Given the description of an element on the screen output the (x, y) to click on. 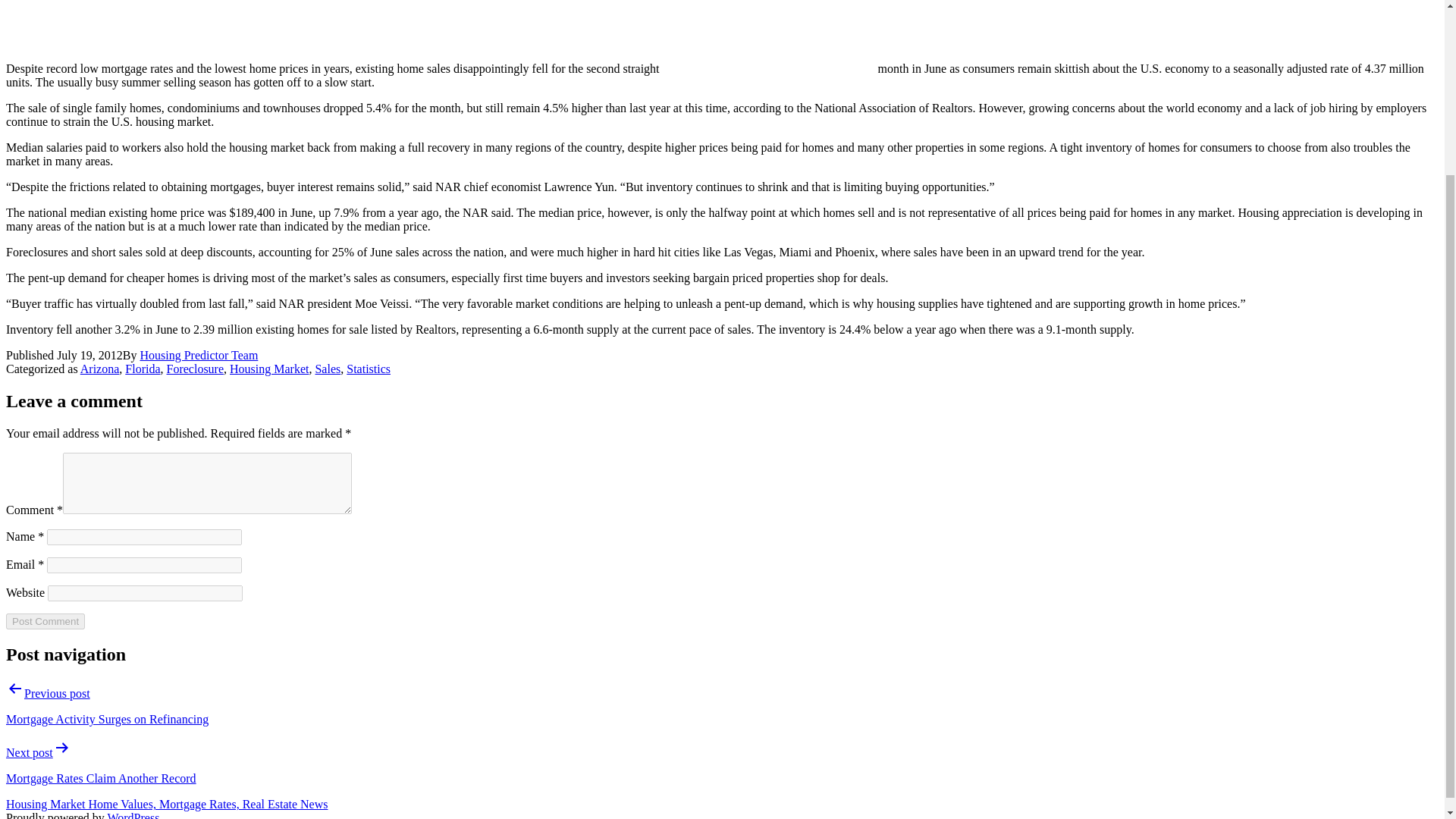
Post Comment (44, 621)
Sales (327, 368)
Housing Market (269, 368)
Post Comment (44, 621)
Arizona (99, 368)
Florida (142, 368)
Housing Predictor Team (198, 354)
Statistics (368, 368)
Housing Market Home Values, Mortgage Rates, Real Estate News (167, 803)
Foreclosure (195, 368)
